Given the description of an element on the screen output the (x, y) to click on. 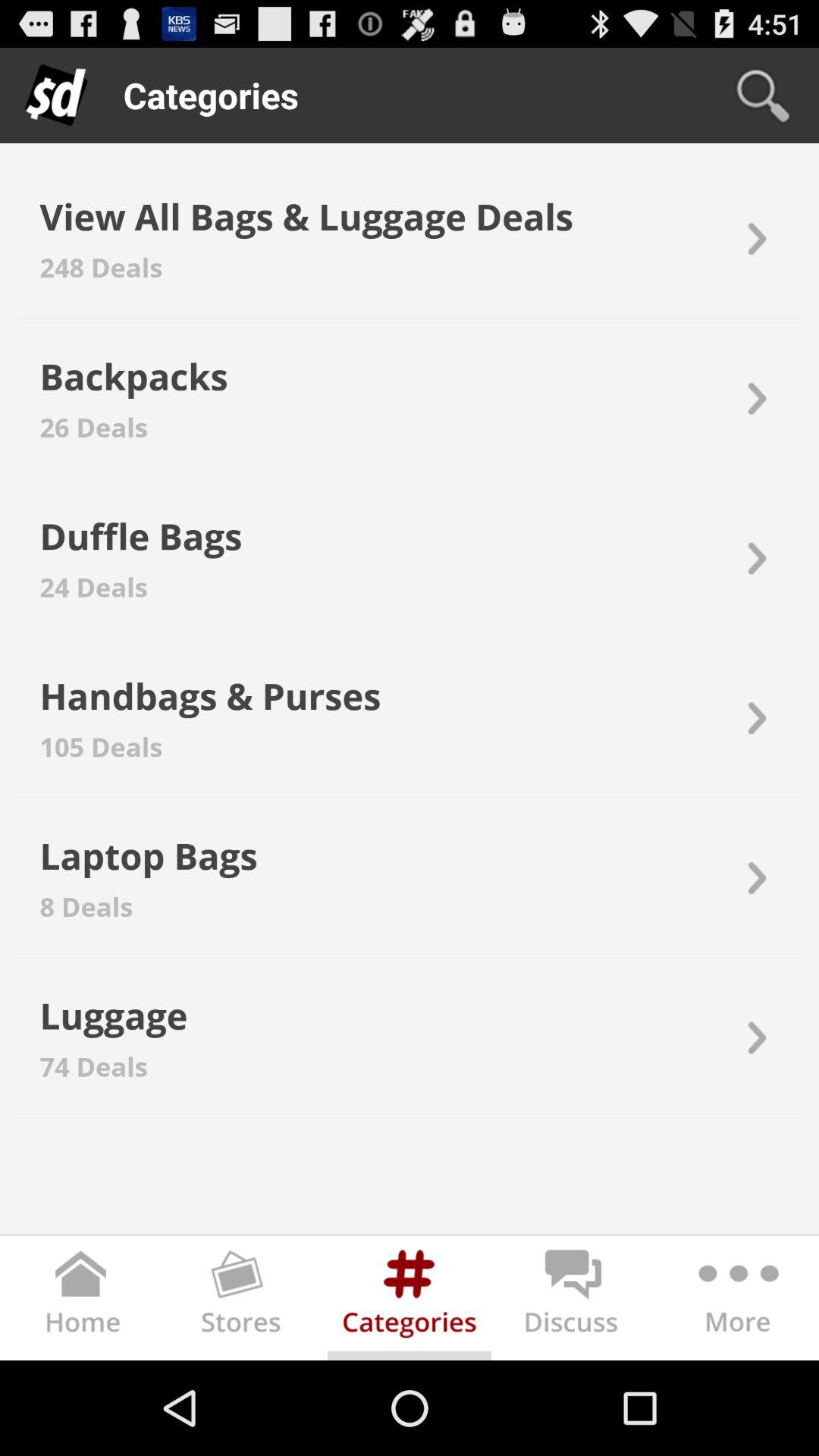
open discuss tab (573, 1301)
